Given the description of an element on the screen output the (x, y) to click on. 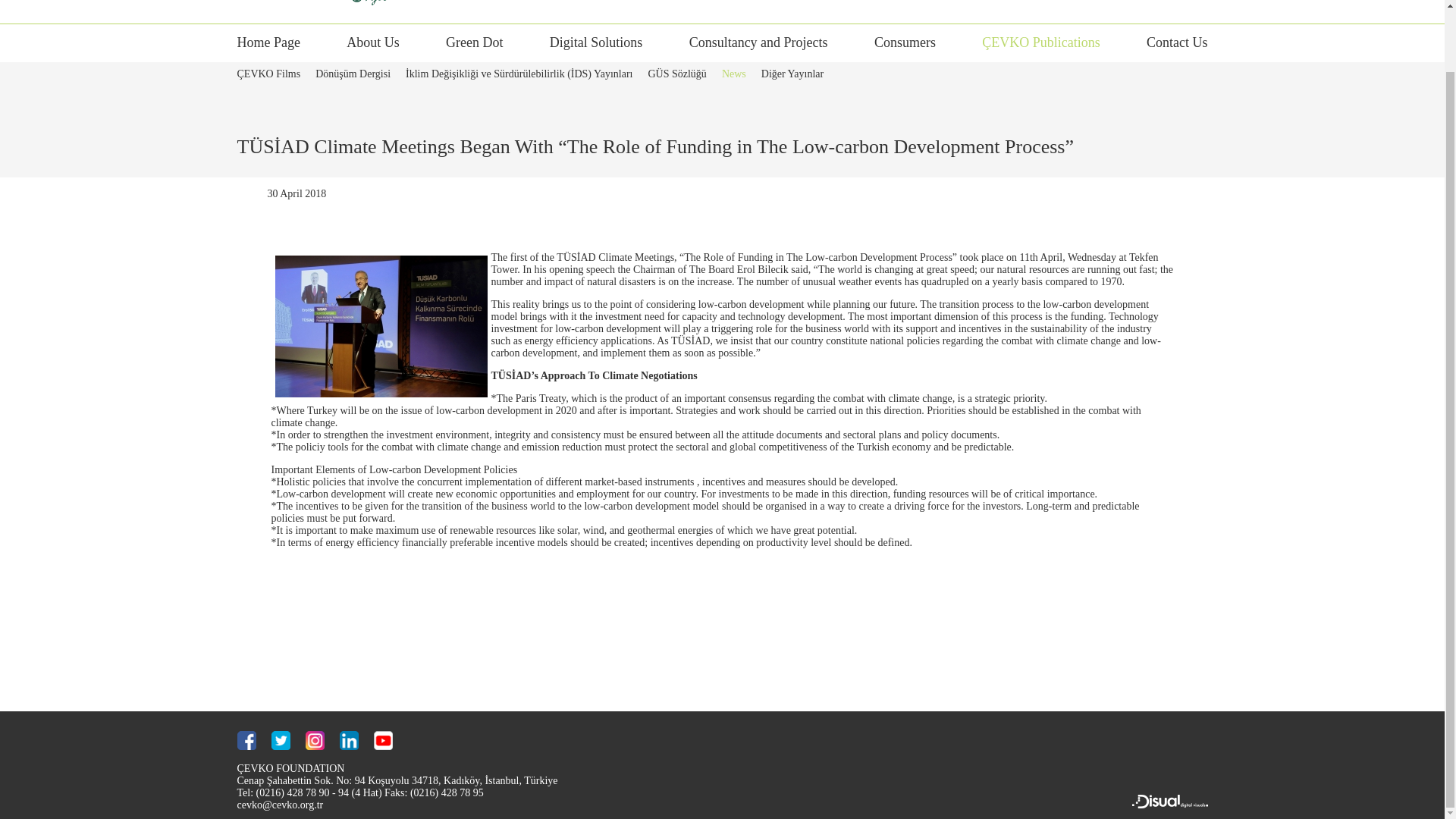
Home Page (267, 48)
Disual Digital Visuals (1169, 804)
About Us (372, 48)
